Given the description of an element on the screen output the (x, y) to click on. 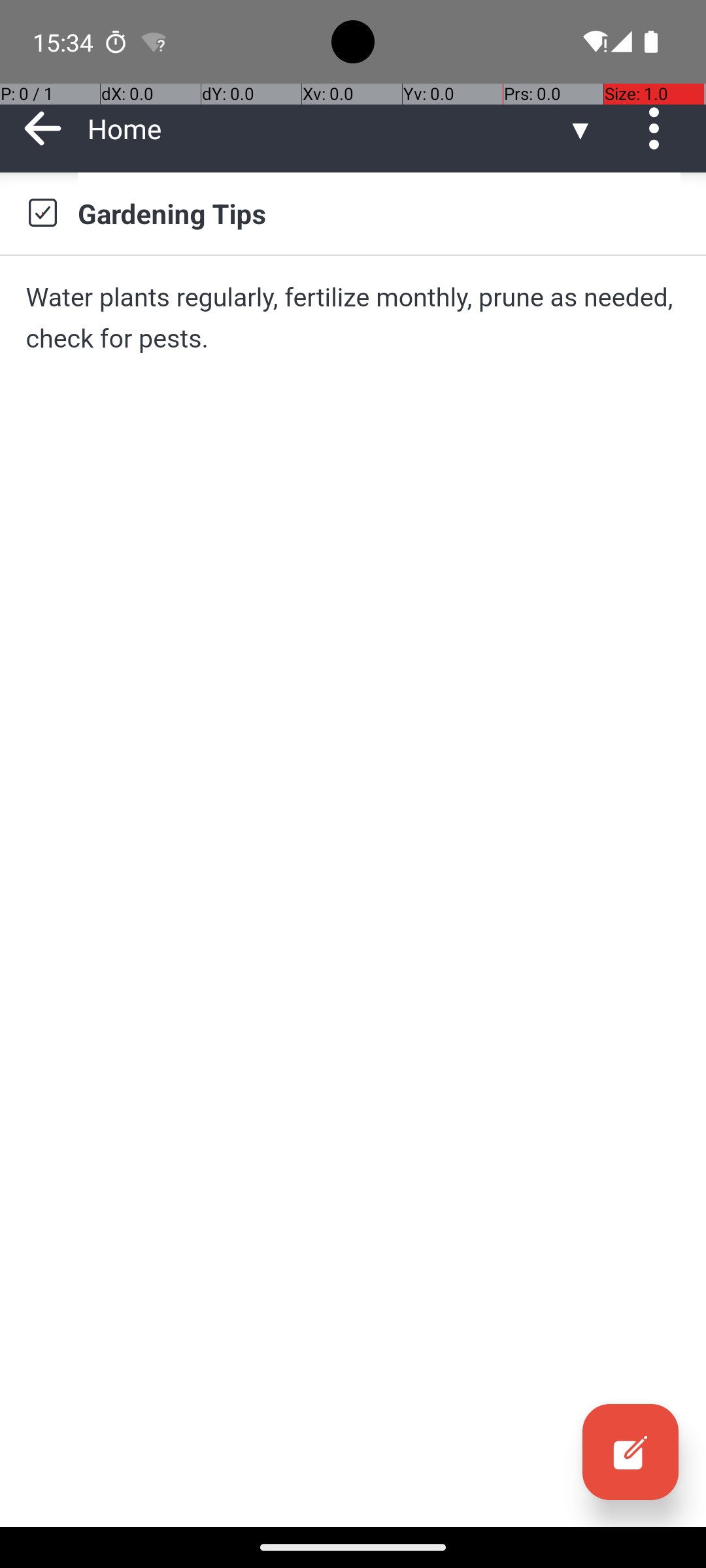
Water plants regularly, fertilize monthly, prune as needed, check for pests. Element type: android.widget.TextView (352, 317)
